Given the description of an element on the screen output the (x, y) to click on. 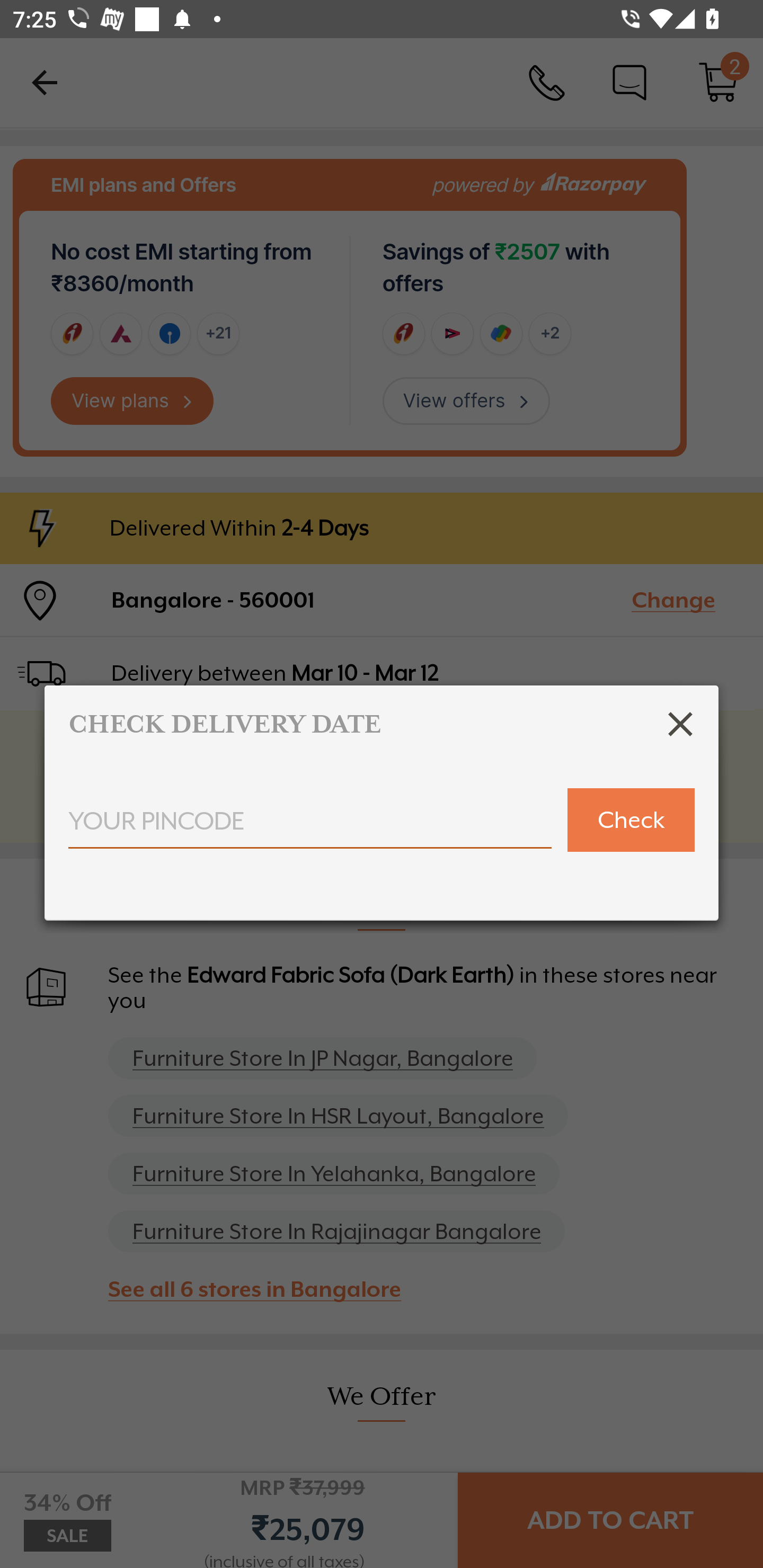
 (680, 723)
Check (630, 819)
YOUR PINCODE (309, 827)
